Given the description of an element on the screen output the (x, y) to click on. 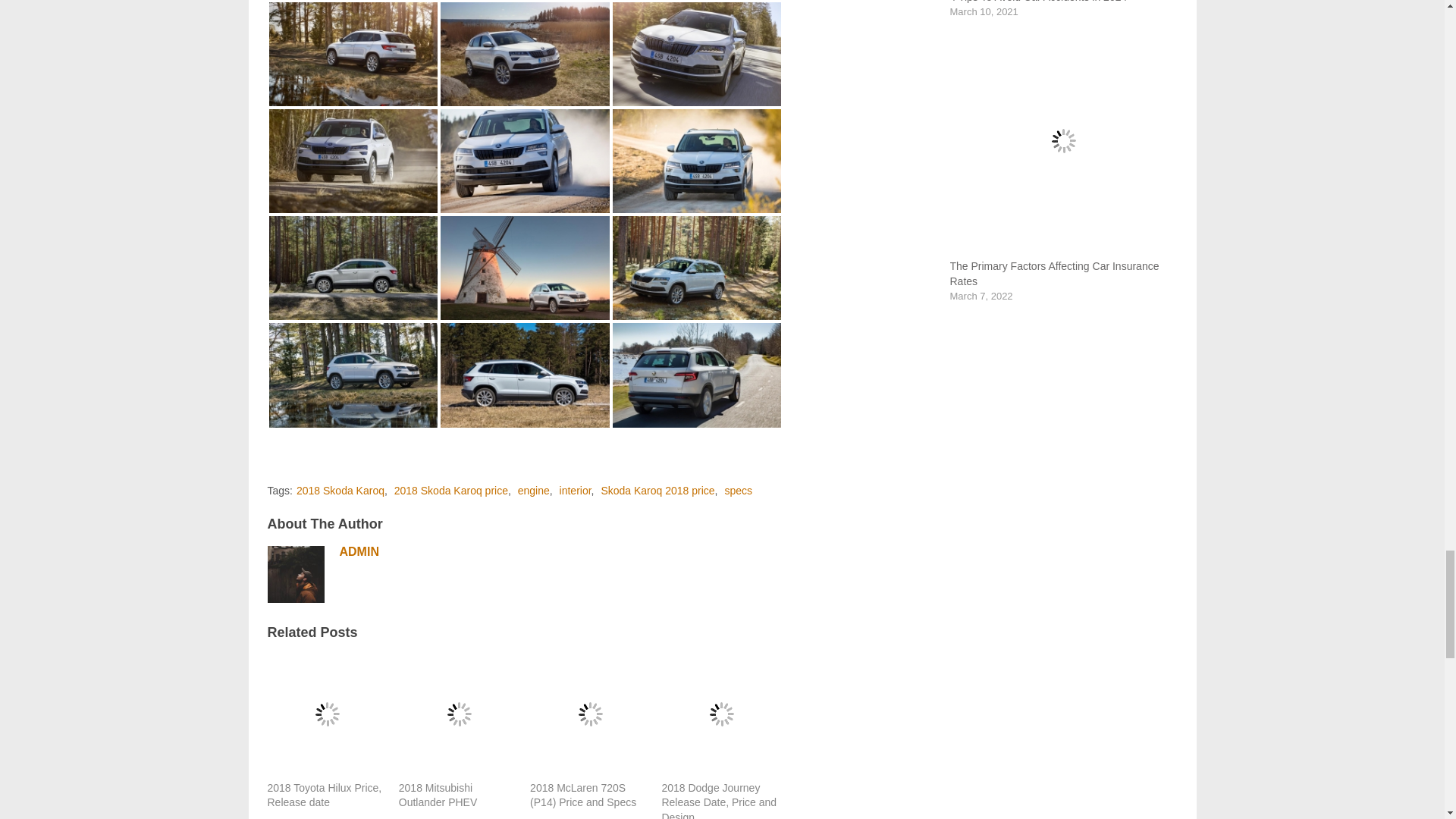
engine (534, 490)
interior (575, 490)
2018 Skoda Karoq price (451, 490)
2018 Skoda Karoq (340, 490)
